Given the description of an element on the screen output the (x, y) to click on. 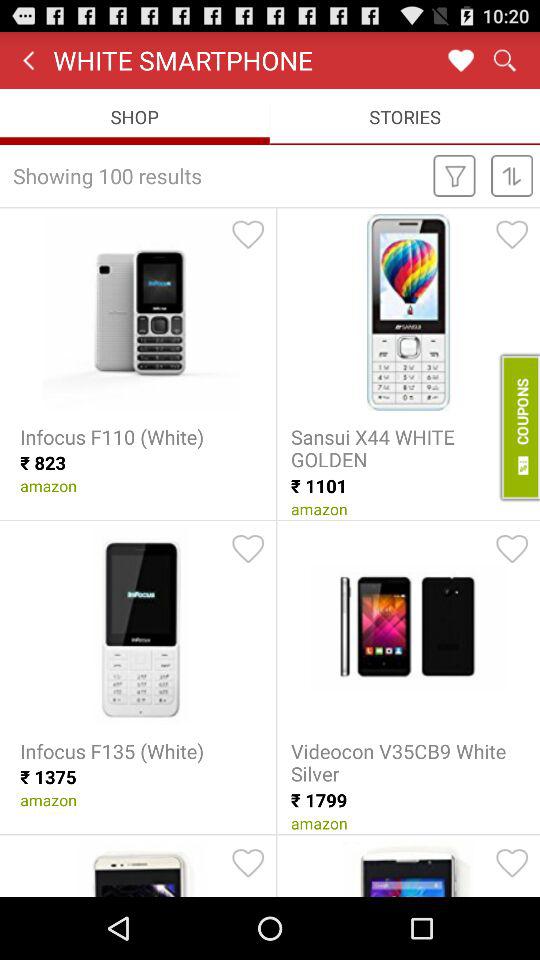
favorite (512, 549)
